Given the description of an element on the screen output the (x, y) to click on. 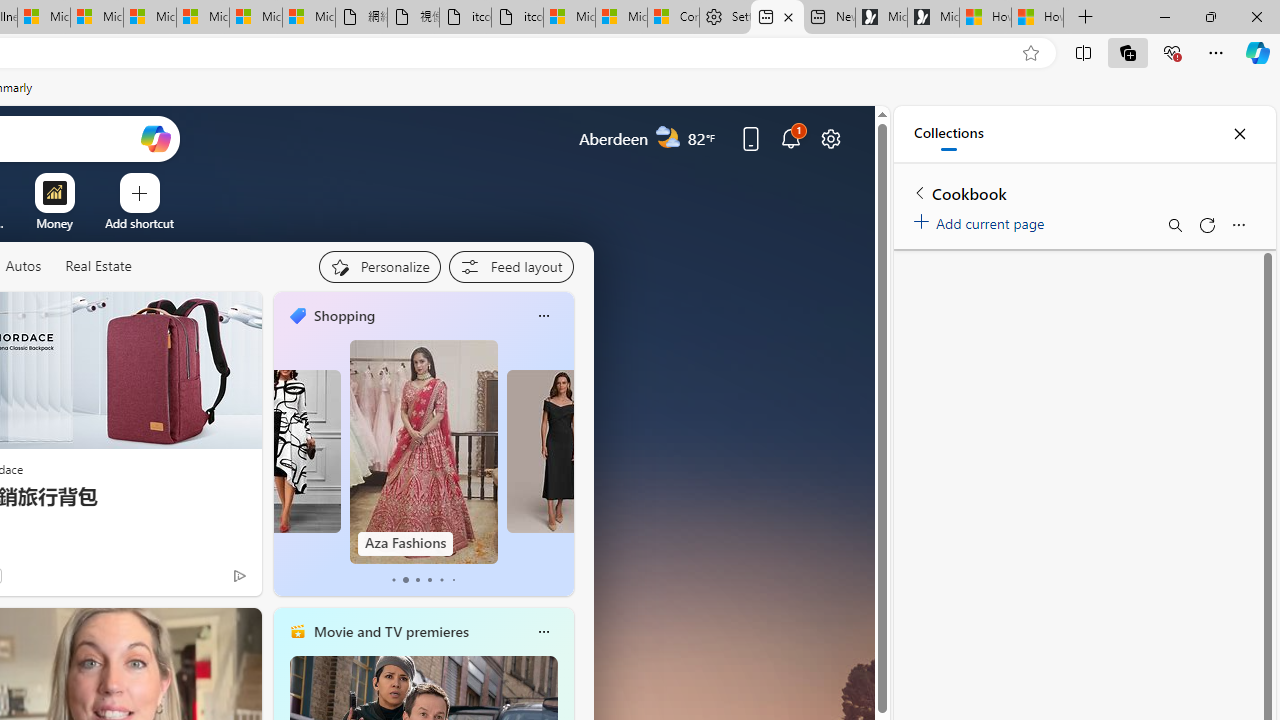
tab-4 (441, 579)
Feed settings (510, 266)
tab-5 (452, 579)
More options menu (1238, 224)
Movie and TV premieres (390, 631)
Partly cloudy (667, 137)
